Given the description of an element on the screen output the (x, y) to click on. 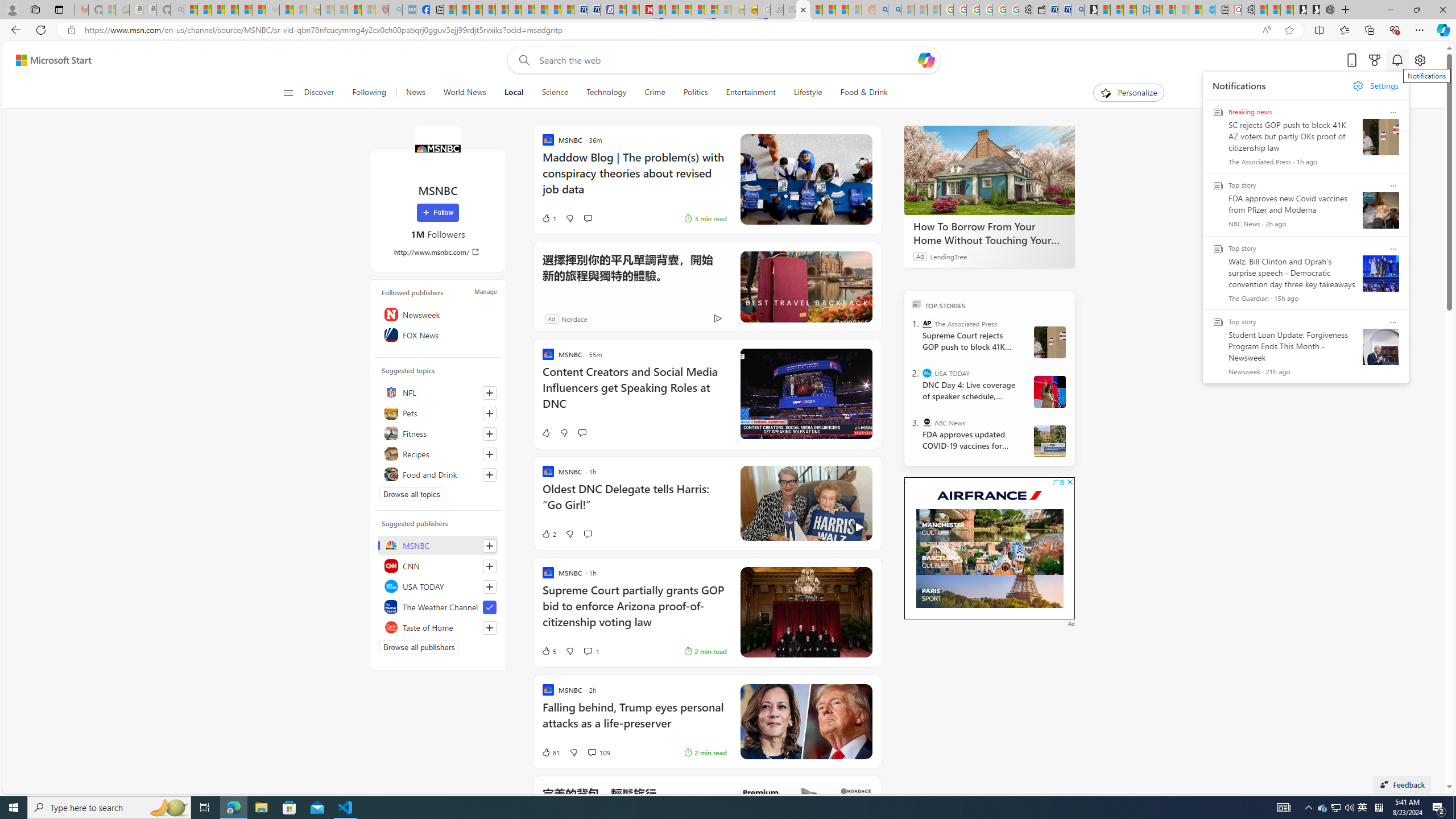
Cheap Car Rentals - Save70.com (1063, 9)
How To Borrow From Your Home Without Touching Your Mortgage (988, 232)
Entertainment (750, 92)
Recipes (437, 453)
81 Like (549, 752)
